Given the description of an element on the screen output the (x, y) to click on. 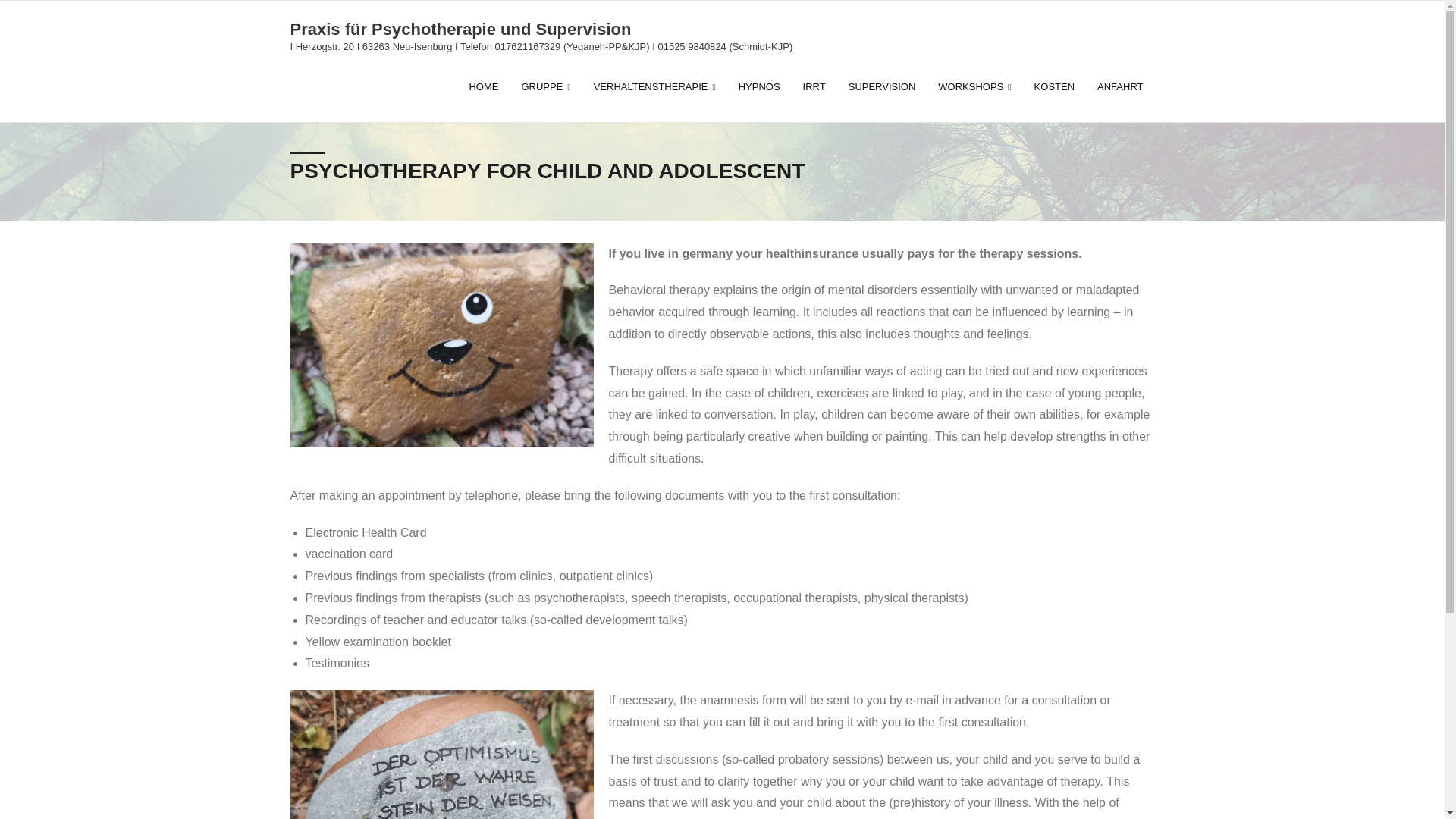
VERHALTENSTHERAPIE (654, 86)
GRUPPE (544, 86)
SUPERVISION (882, 86)
KOSTEN (1054, 86)
ANFAHRT (1120, 86)
WORKSHOPS (974, 86)
HYPNOS (759, 86)
